Given the description of an element on the screen output the (x, y) to click on. 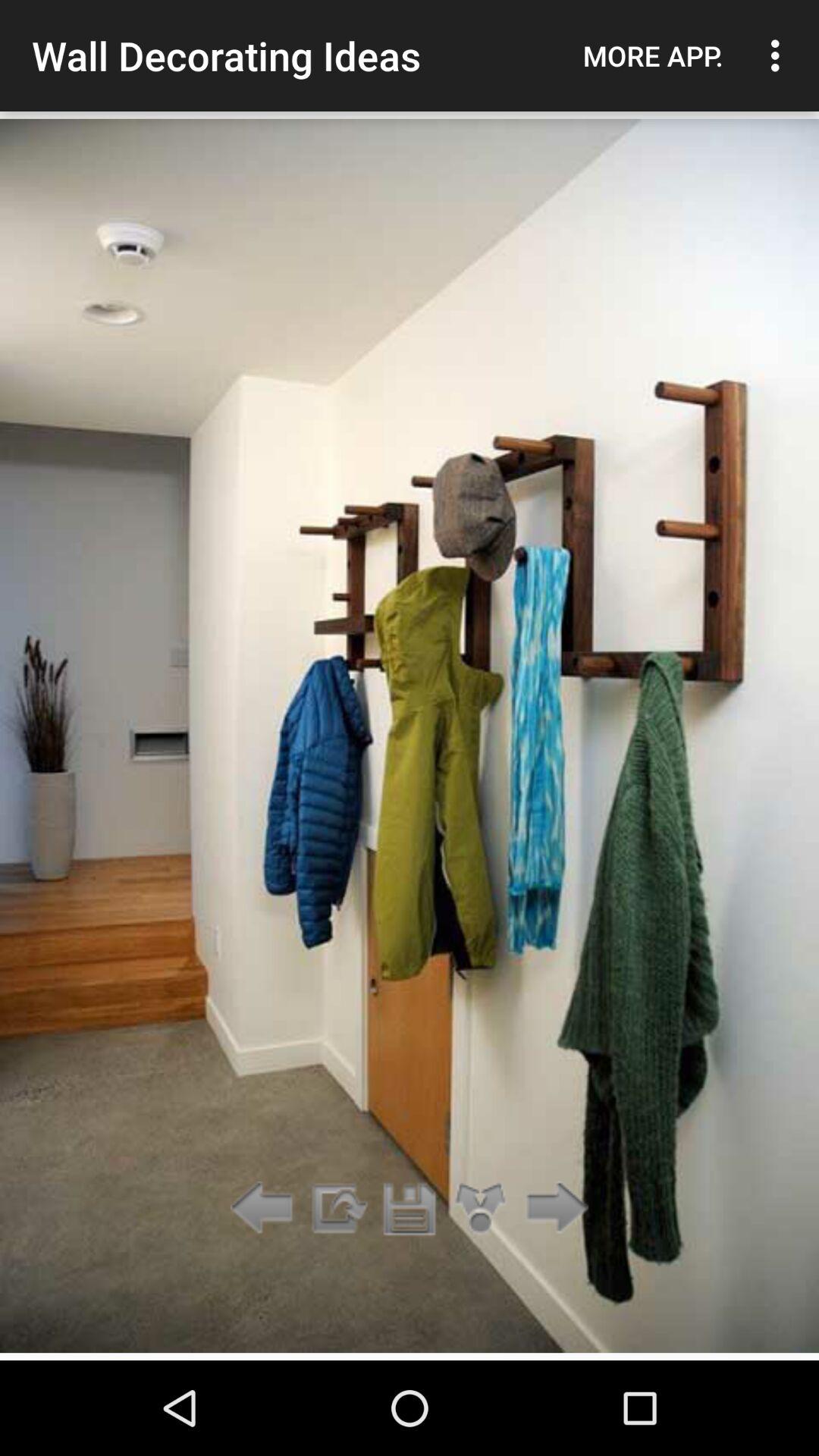
turn off icon to the right of the more app. item (779, 55)
